Given the description of an element on the screen output the (x, y) to click on. 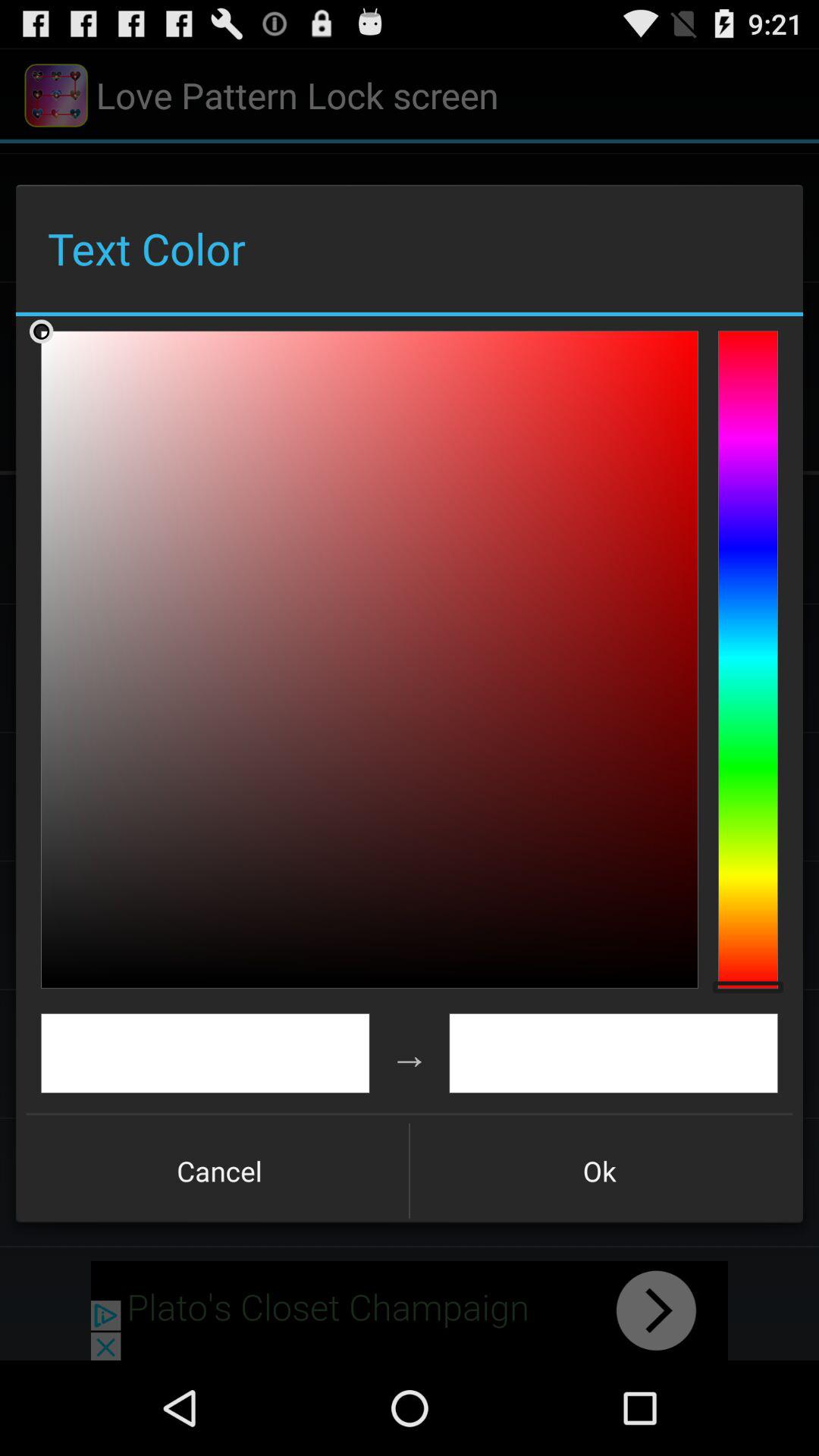
open item to the left of the ok item (219, 1170)
